Given the description of an element on the screen output the (x, y) to click on. 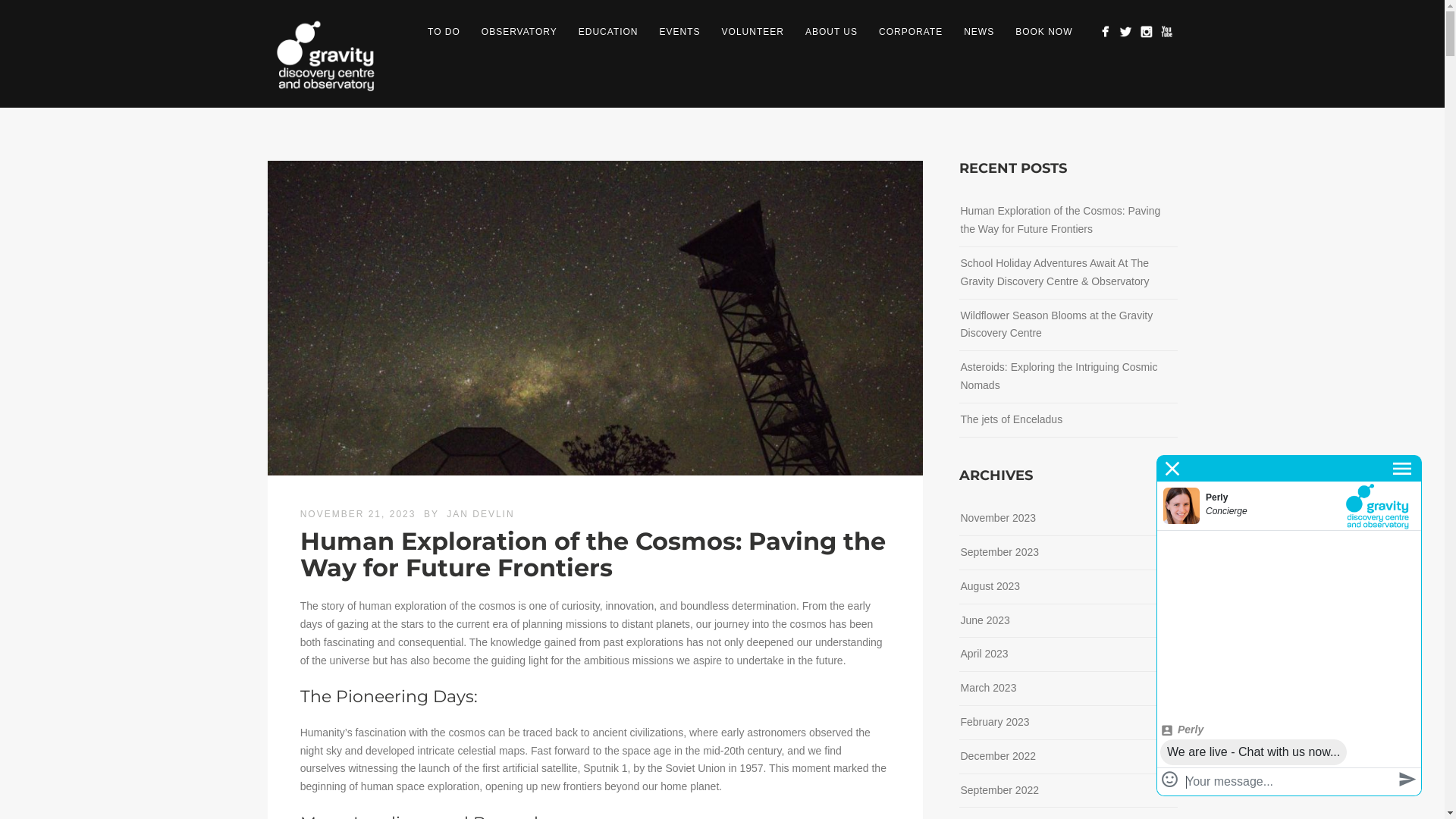
Follow us Element type: hover (1125, 30)
Like us Element type: hover (1104, 30)
VOLUNTEER Element type: text (752, 31)
JAN DEVLIN Element type: text (480, 513)
EDUCATION Element type: text (608, 31)
August 2023 Element type: text (989, 586)
CORPORATE Element type: text (910, 31)
September 2023 Element type: text (999, 551)
ABOUT US Element type: text (831, 31)
Wildflower Season Blooms at the Gravity Discovery Centre Element type: text (1056, 324)
TO DO Element type: text (443, 31)
NEWS Element type: text (978, 31)
December 2022 Element type: text (997, 755)
Follow us Element type: hover (1144, 30)
OBSERVATORY Element type: text (518, 31)
The jets of Enceladus Element type: text (1011, 419)
April 2023 Element type: text (983, 653)
February 2023 Element type: text (994, 721)
September 2022 Element type: text (999, 789)
Subscribe Element type: hover (1166, 30)
November 2023 Element type: text (997, 517)
BOOK NOW Element type: text (1043, 31)
Asteroids: Exploring the Intriguing Cosmic Nomads Element type: text (1058, 376)
June 2023 Element type: text (984, 620)
EVENTS Element type: text (680, 31)
March 2023 Element type: text (988, 687)
